Given the description of an element on the screen output the (x, y) to click on. 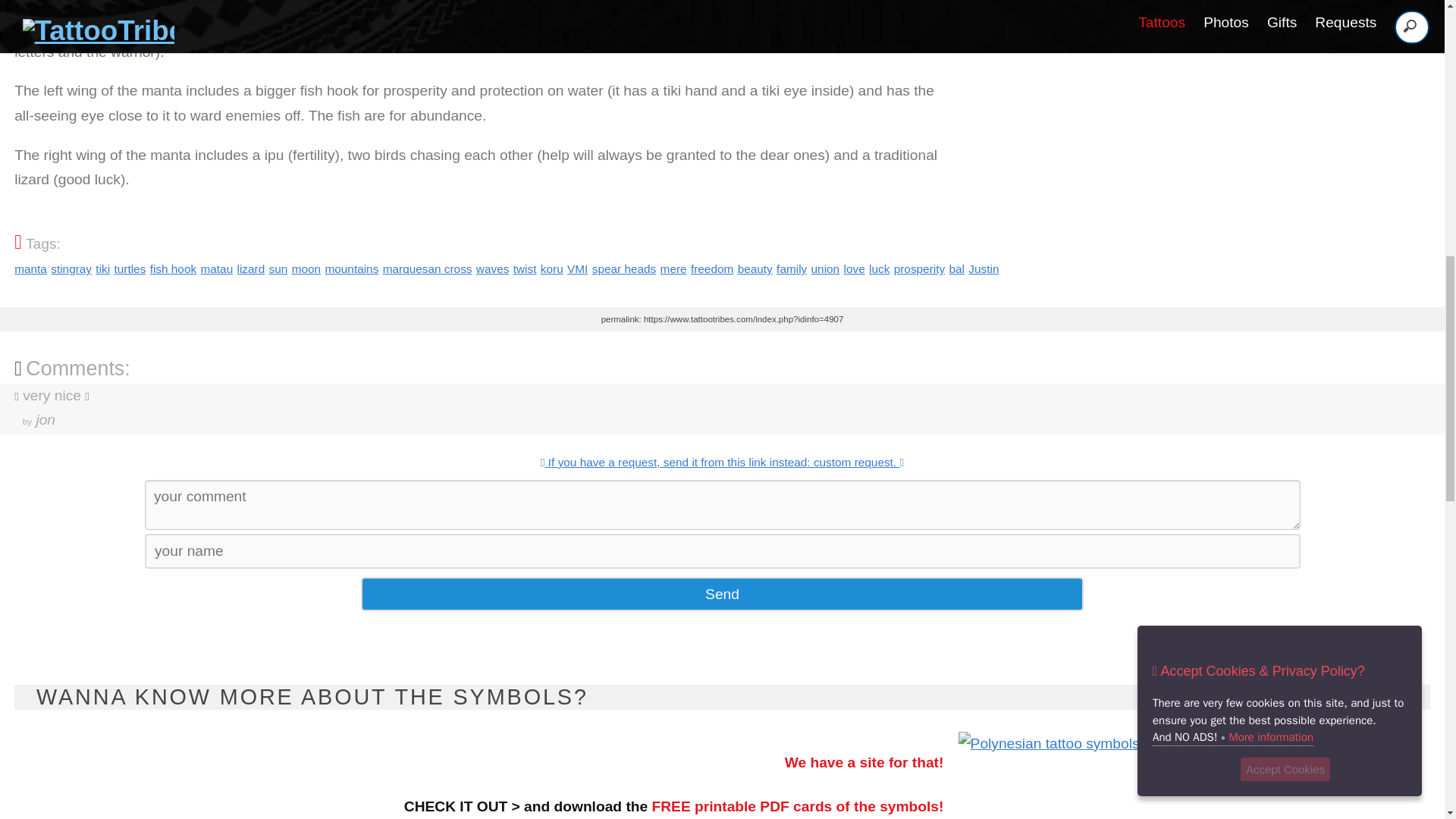
turtles (129, 268)
fish hook (172, 268)
tiki (103, 268)
moon (306, 268)
matau (216, 268)
stingray (70, 268)
sun (278, 268)
lizard (250, 268)
manta (30, 268)
Send (722, 593)
